Given the description of an element on the screen output the (x, y) to click on. 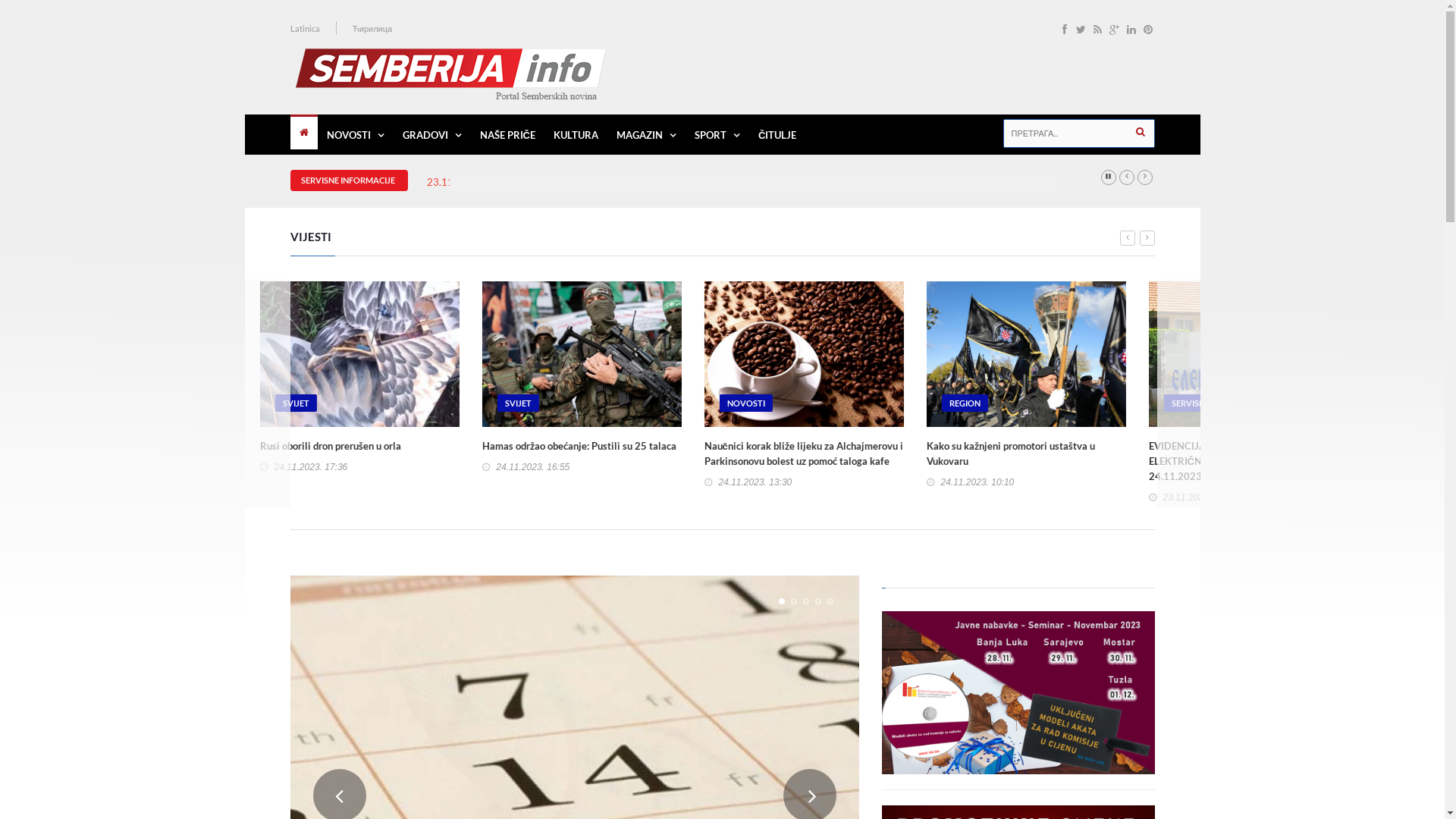
5 Element type: text (829, 600)
NOVOSTI Element type: text (354, 134)
NOVOSTI Element type: text (998, 403)
SVIJET Element type: text (769, 403)
3 Element type: text (805, 600)
2 Element type: text (793, 600)
GRADOVI Element type: text (431, 134)
REGION Element type: text (1216, 403)
1 Element type: text (781, 600)
SVIJET Element type: text (325, 403)
Latinica Element type: text (304, 28)
MAGAZIN Element type: text (646, 134)
SPORT Element type: text (717, 134)
4 Element type: text (817, 600)
KULTURA Element type: text (575, 134)
SVIJET Element type: text (548, 403)
